Given the description of an element on the screen output the (x, y) to click on. 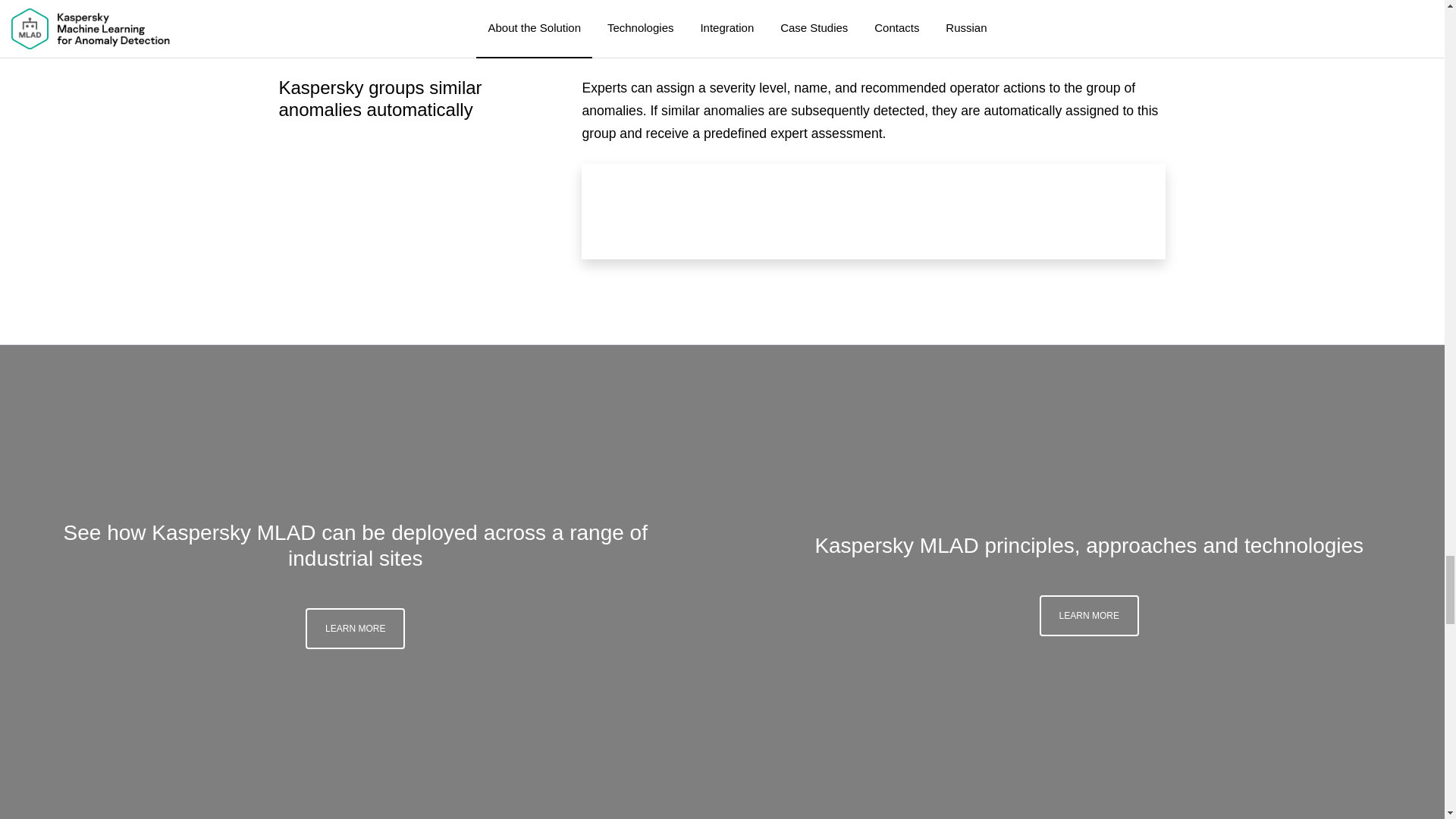
LEARN MORE (1088, 615)
LEARN MORE (354, 628)
